Given the description of an element on the screen output the (x, y) to click on. 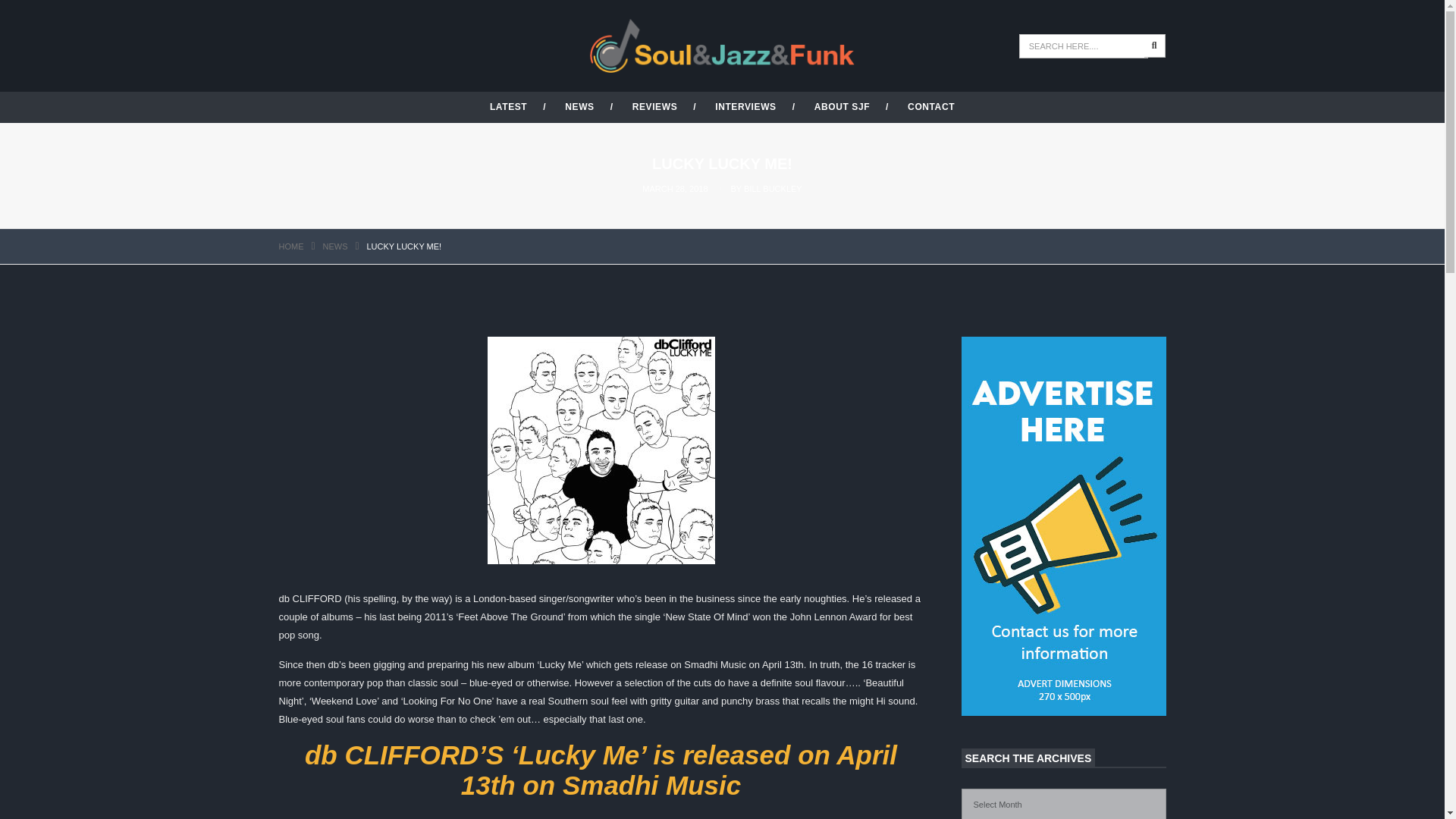
ABOUT SJF (841, 106)
LATEST (508, 106)
NEWS (579, 106)
NEWS (335, 245)
Browse to: Home (291, 245)
INTERVIEWS (744, 106)
HOME (291, 245)
CONTACT (931, 106)
BILL BUCKLEY (773, 188)
News (335, 245)
